Given the description of an element on the screen output the (x, y) to click on. 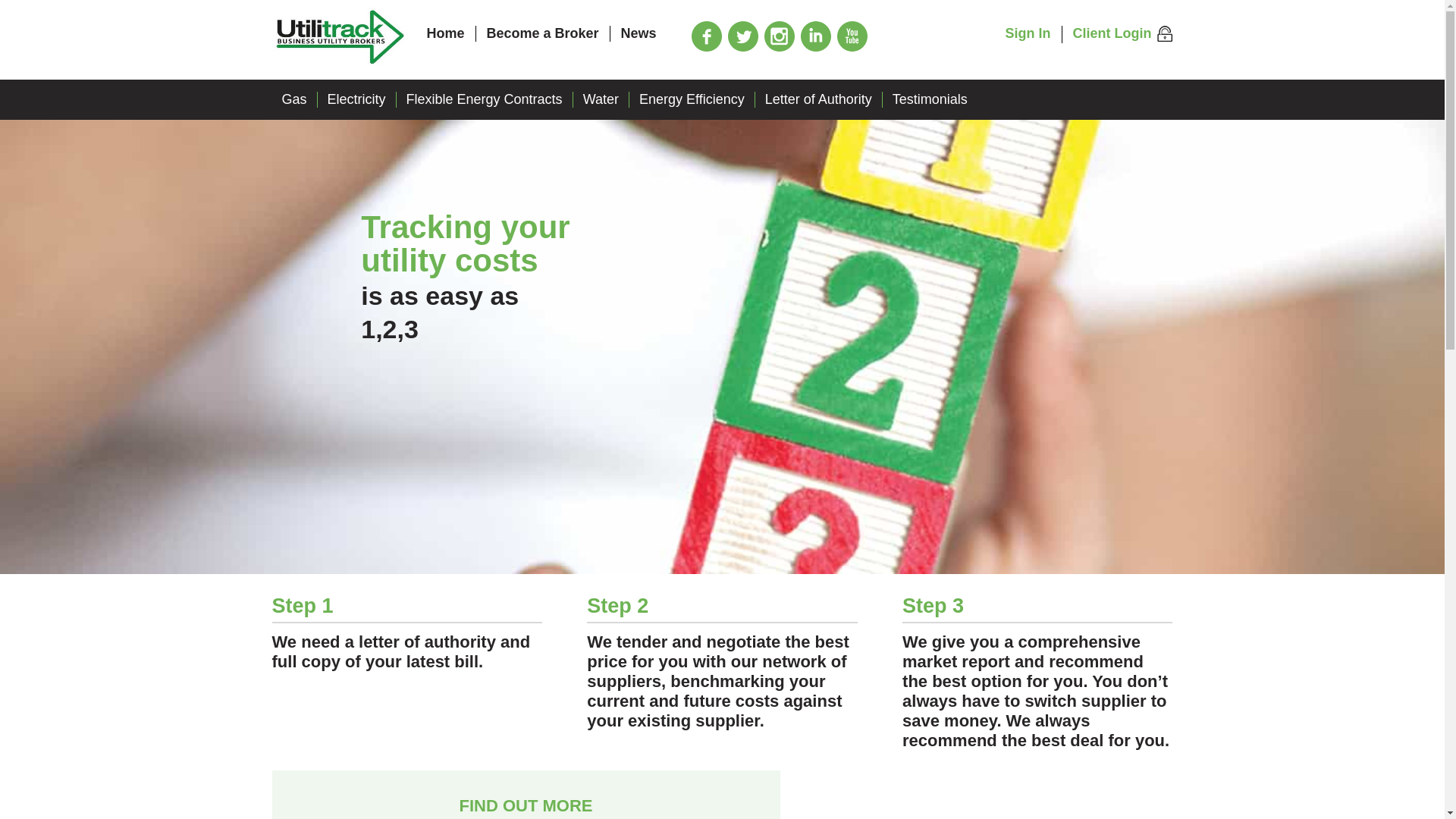
Letter of Authority (818, 99)
Energy Efficiency (691, 99)
Testimonials (930, 99)
News (638, 33)
Flexible Energy Contracts (484, 99)
Become a Broker (542, 33)
Client Login (1123, 34)
Water (600, 99)
Home (445, 33)
utilitrack (338, 39)
